Given the description of an element on the screen output the (x, y) to click on. 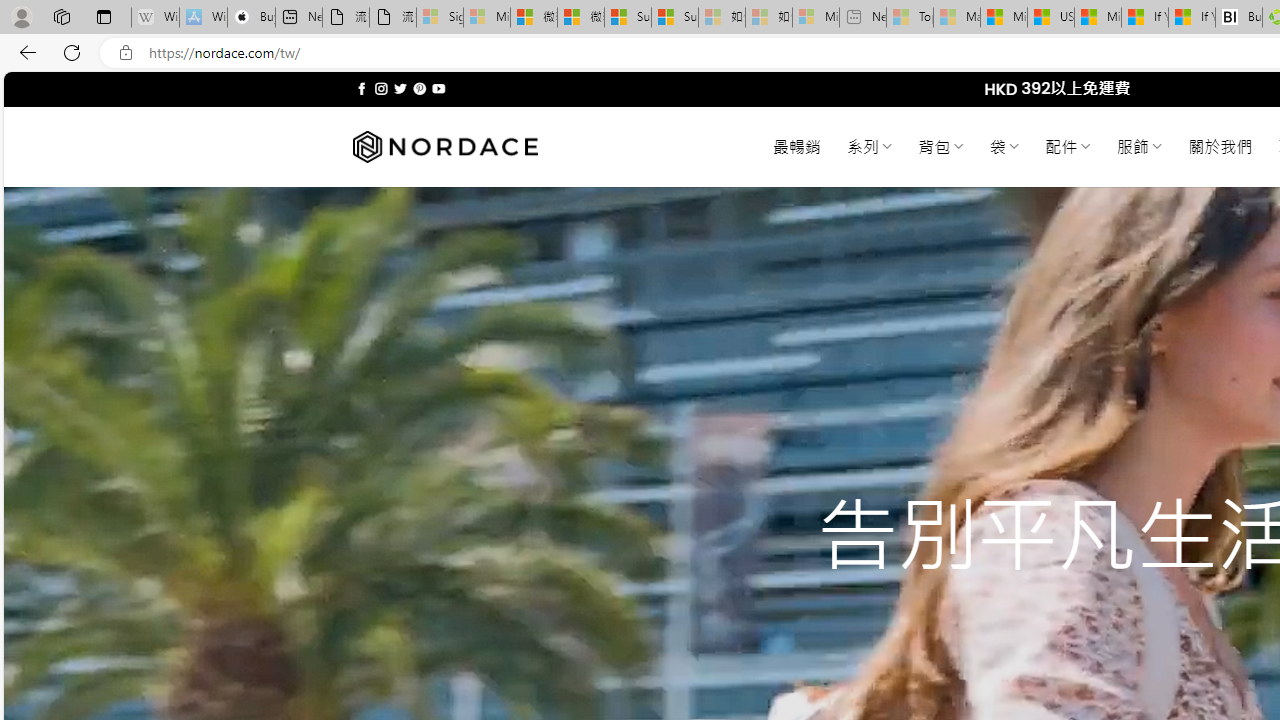
Follow on Instagram (381, 88)
Follow on YouTube (438, 88)
Top Stories - MSN - Sleeping (910, 17)
Marine life - MSN - Sleeping (957, 17)
US Heat Deaths Soared To Record High Last Year (1050, 17)
